Given the description of an element on the screen output the (x, y) to click on. 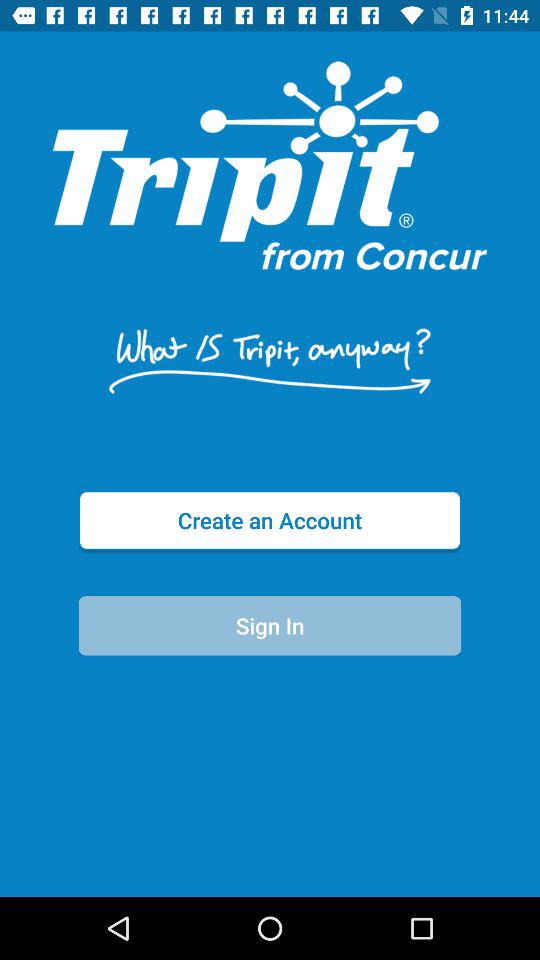
tap the create an account (269, 520)
